Given the description of an element on the screen output the (x, y) to click on. 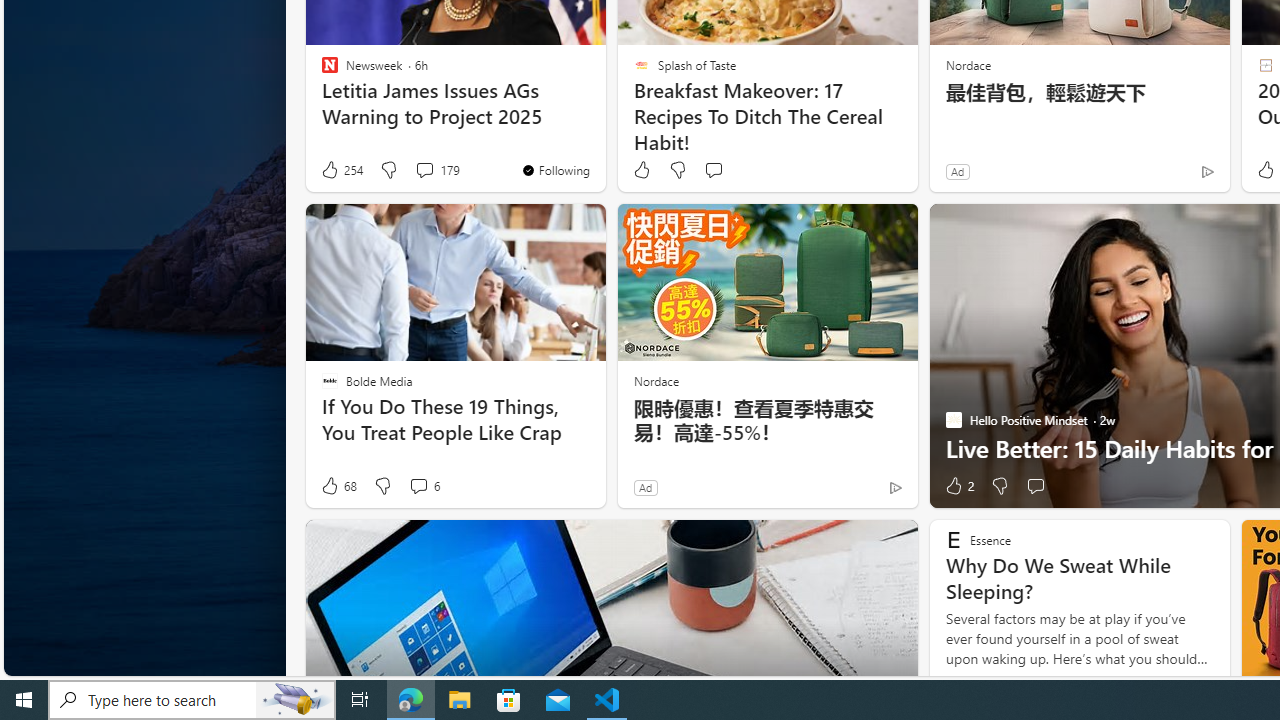
Start the conversation (1035, 485)
Ad Choice (895, 487)
